Given the description of an element on the screen output the (x, y) to click on. 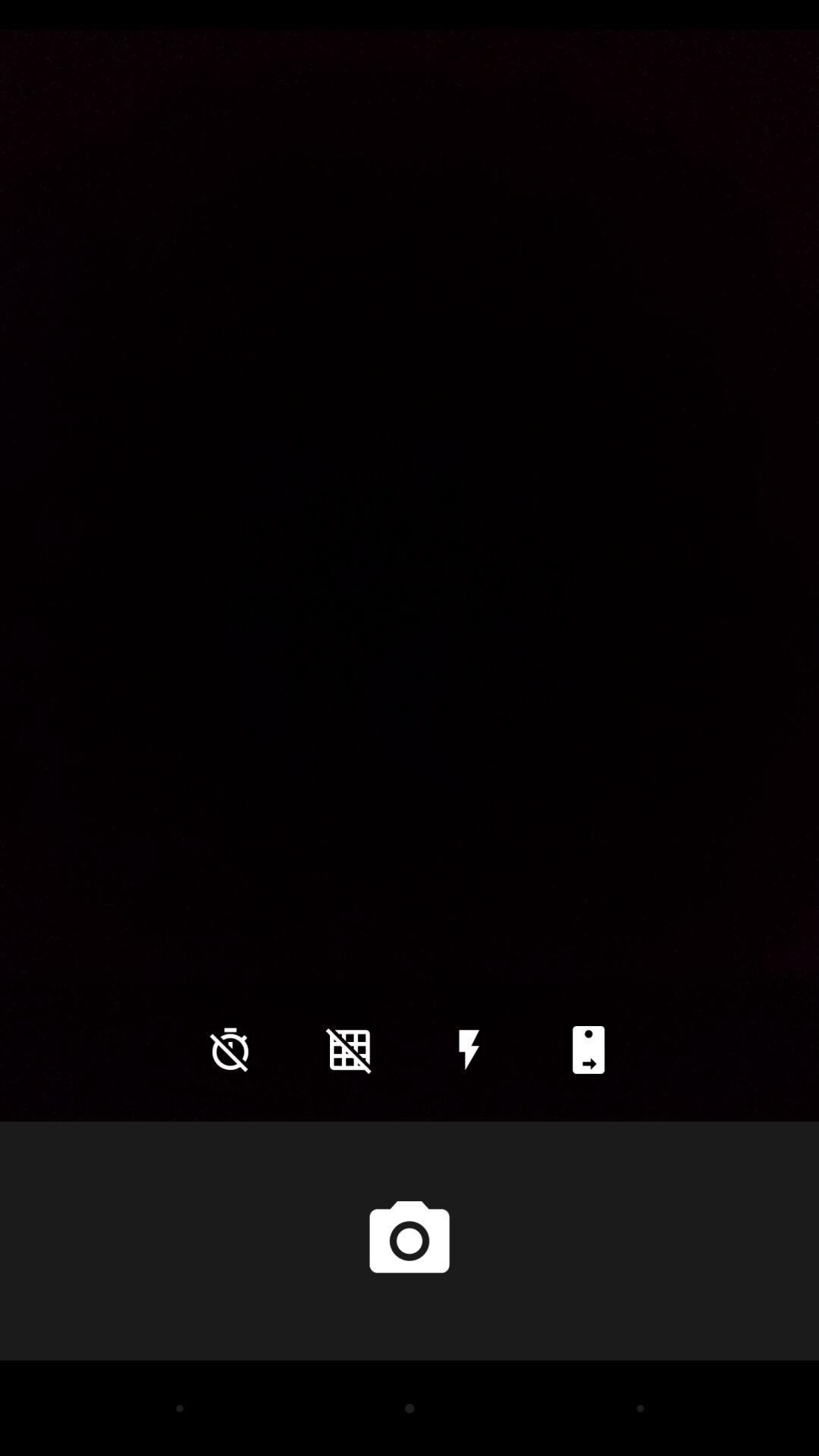
click the item at the bottom left corner (230, 1049)
